Given the description of an element on the screen output the (x, y) to click on. 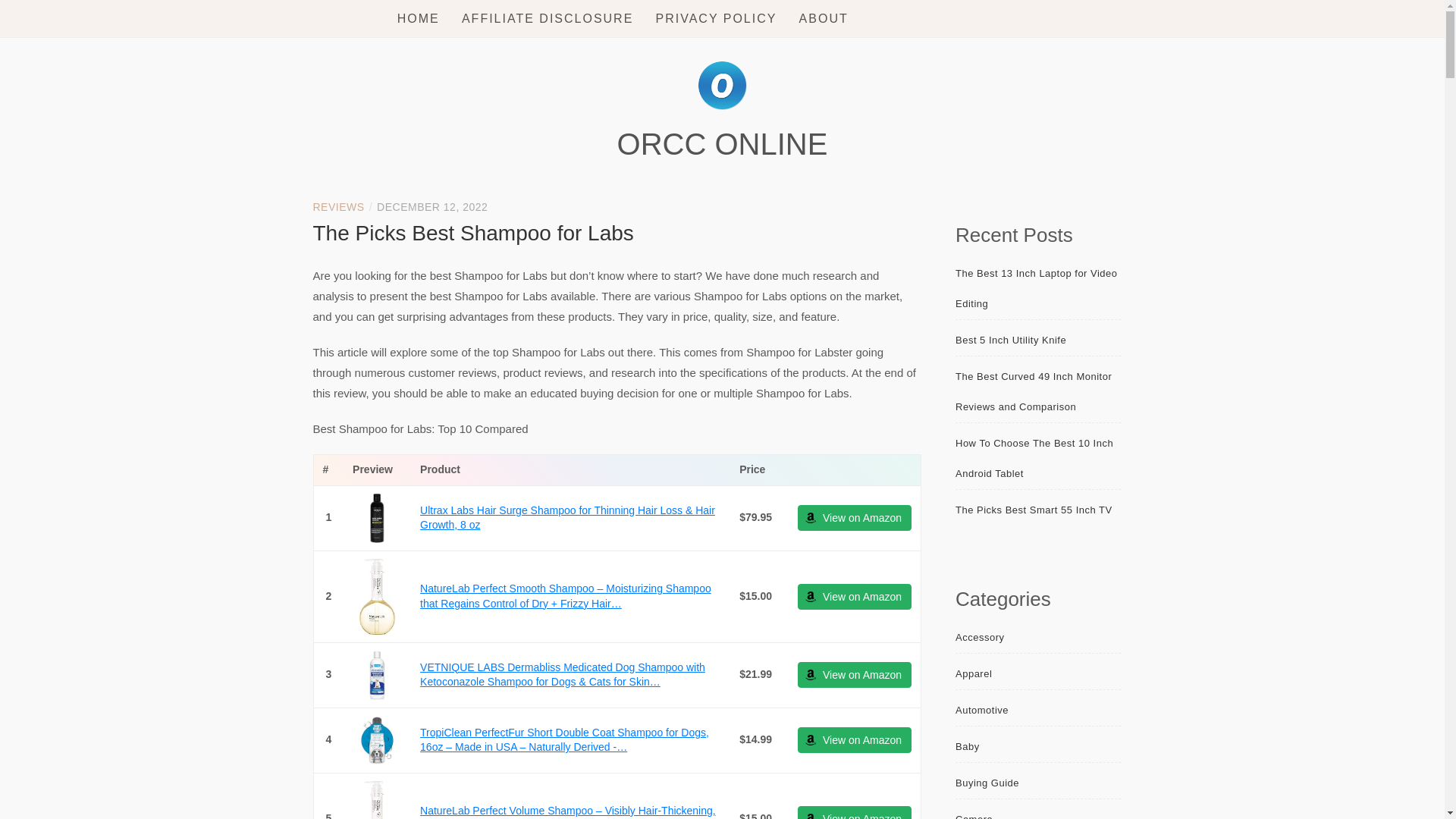
View on Amazon (854, 739)
HOME (418, 18)
View on Amazon (854, 674)
PRIVACY POLICY (716, 18)
REVIEWS (338, 206)
View on Amazon (854, 812)
ORCC ONLINE (722, 143)
View on Amazon (854, 517)
View on Amazon (854, 517)
View on Amazon (854, 739)
View on Amazon (854, 596)
View on Amazon (854, 674)
View on Amazon (854, 596)
View on Amazon (854, 812)
AFFILIATE DISCLOSURE (547, 18)
